Given the description of an element on the screen output the (x, y) to click on. 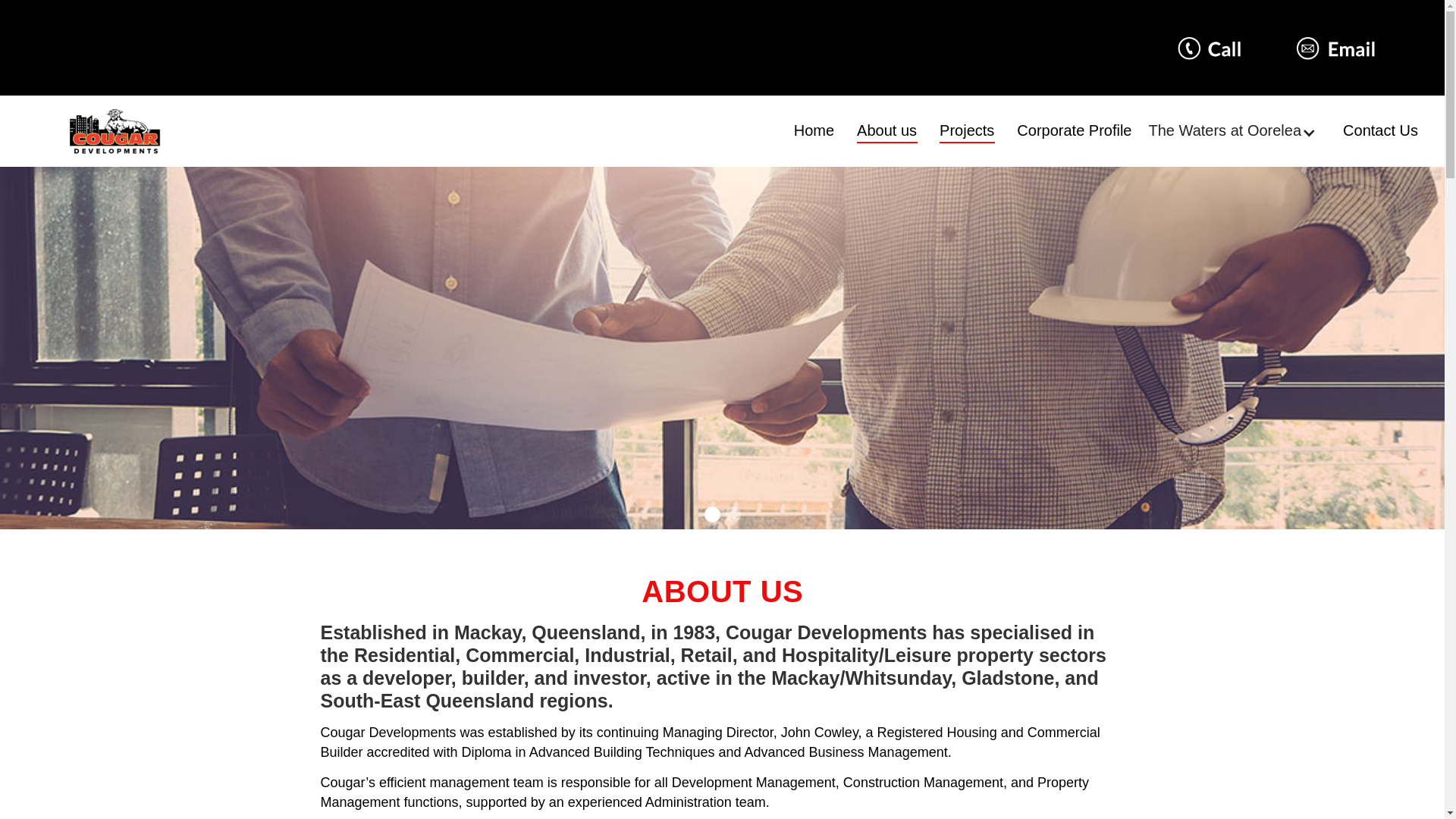
Contact Us Element type: text (1380, 129)
Projects Element type: text (966, 129)
About us Element type: text (886, 129)
Home Element type: text (813, 129)
Corporate Profile Element type: text (1073, 129)
